Given the description of an element on the screen output the (x, y) to click on. 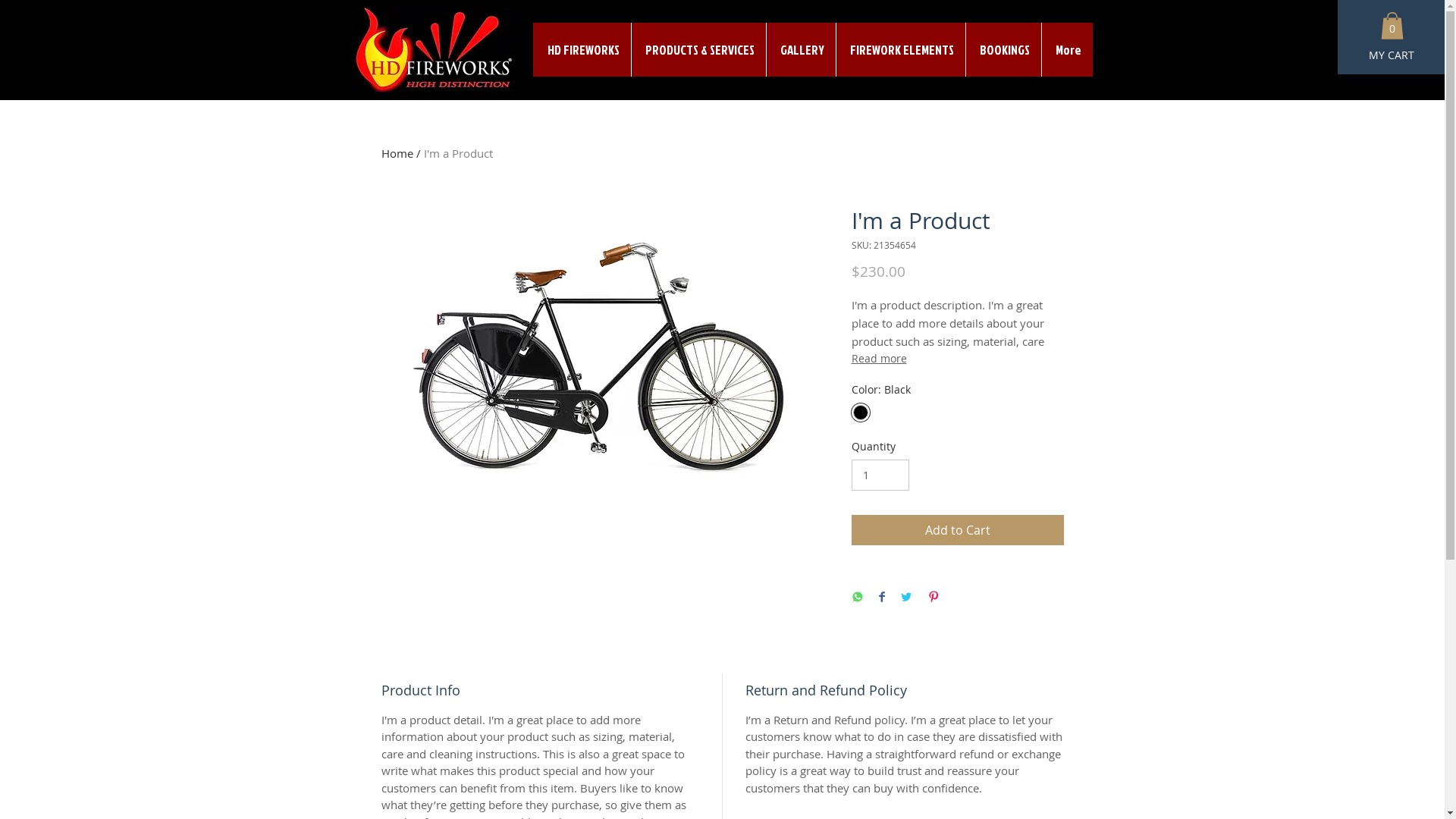
I'm a Product Element type: text (457, 152)
FIREWORK ELEMENTS Element type: text (900, 49)
GALLERY Element type: text (800, 49)
Home Element type: text (396, 152)
BOOKINGS Element type: text (1002, 49)
PRODUCTS & SERVICES Element type: text (697, 49)
0 Element type: text (1391, 25)
Add to Cart Element type: text (956, 529)
HD FIREWORKS Element type: text (581, 49)
Read more Element type: text (956, 358)
